Given the description of an element on the screen output the (x, y) to click on. 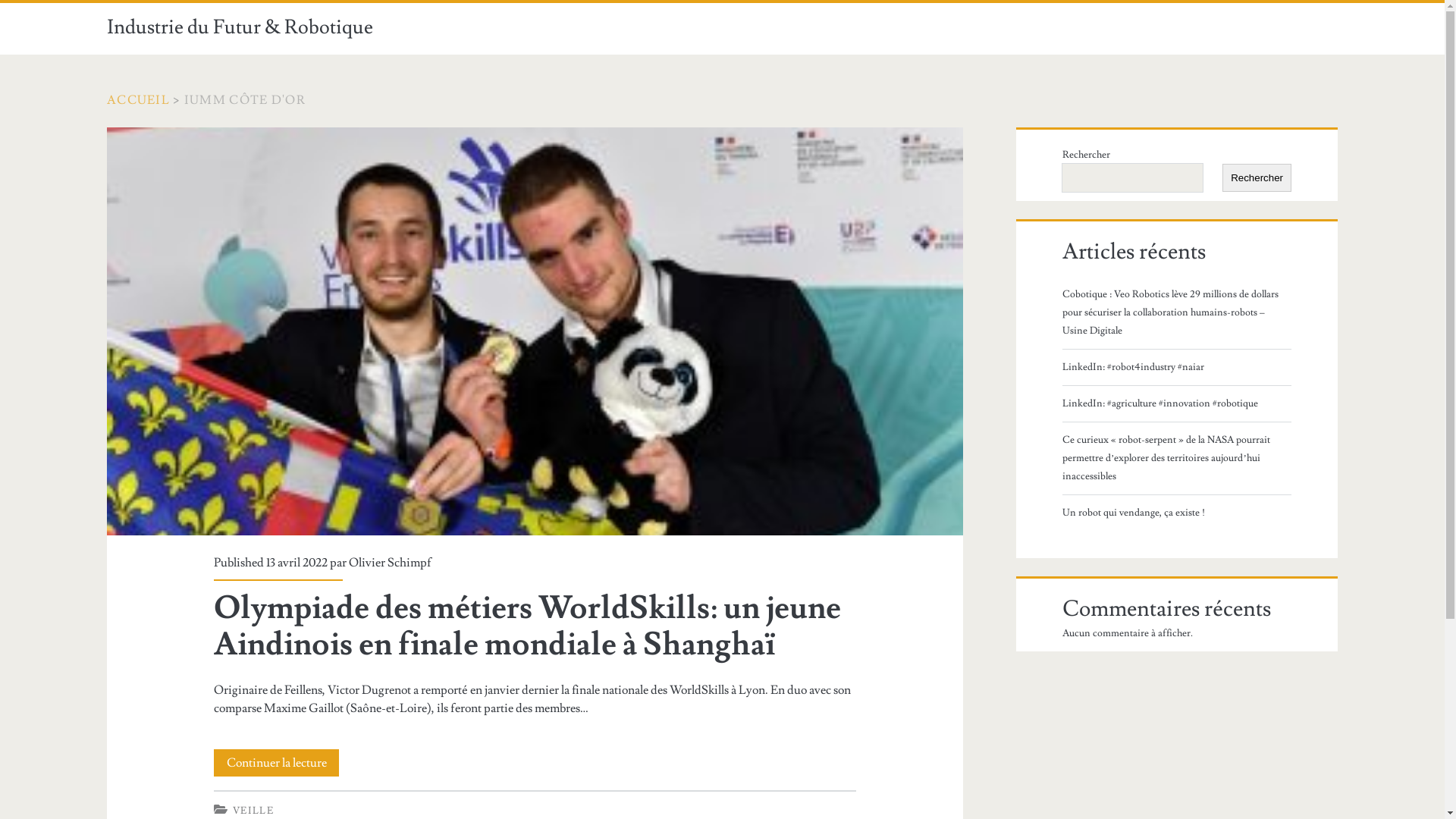
Olivier Schimpf Element type: text (389, 562)
LinkedIn: #agriculture #innovation #robotique Element type: text (1174, 403)
Rechercher Element type: text (1256, 177)
Industrie du Futur & Robotique Element type: text (239, 27)
ACCUEIL Element type: text (137, 99)
VEILLE Element type: text (252, 810)
LinkedIn: #robot4industry #naiar Element type: text (1174, 366)
